Given the description of an element on the screen output the (x, y) to click on. 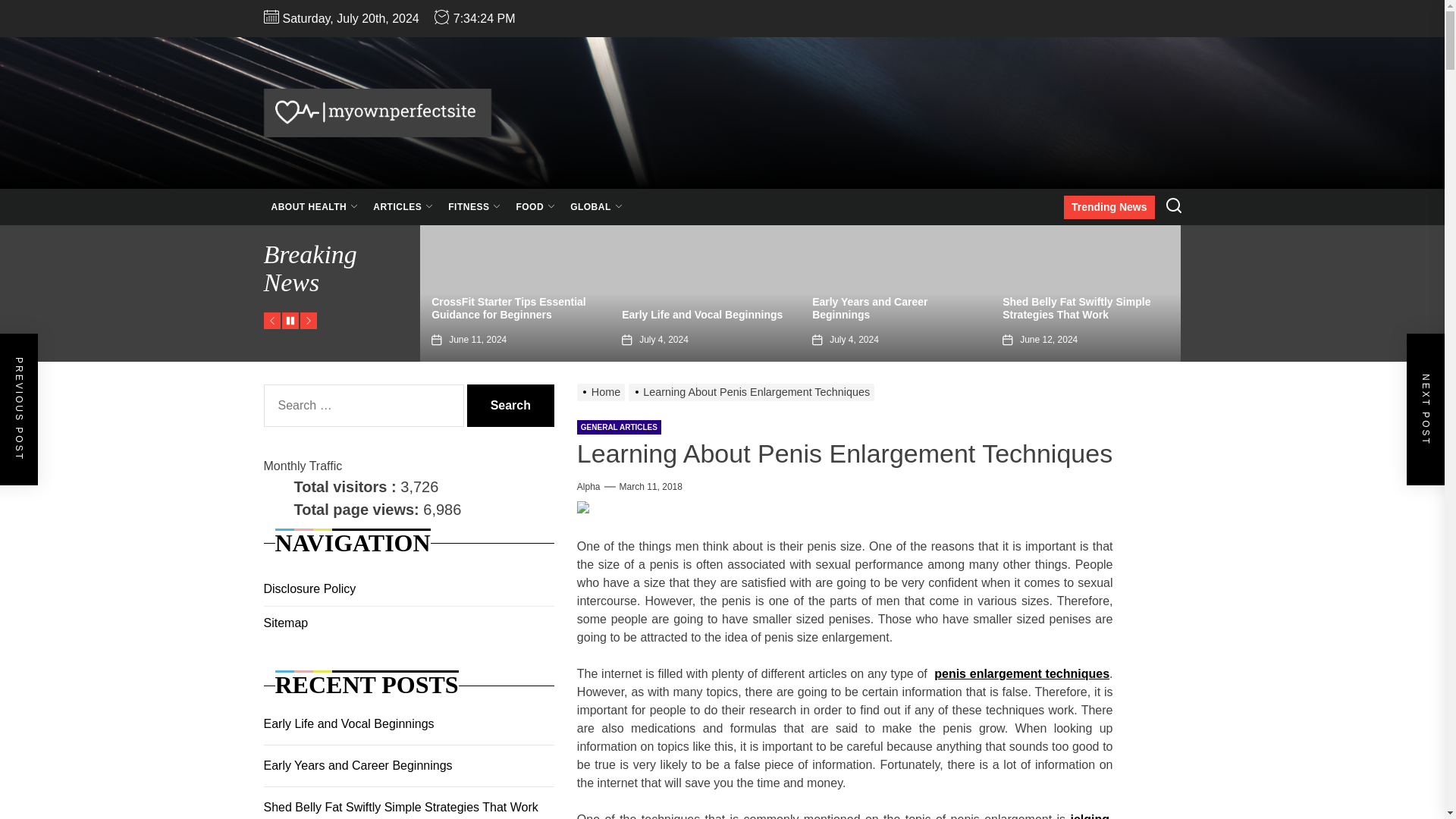
Trending News (1109, 207)
Search (510, 405)
MYOWNPERFECTSITE (558, 168)
FITNESS (474, 207)
FOOD (535, 207)
ABOUT HEALTH (314, 207)
ARTICLES (403, 207)
Search (510, 405)
GLOBAL (596, 207)
